Given the description of an element on the screen output the (x, y) to click on. 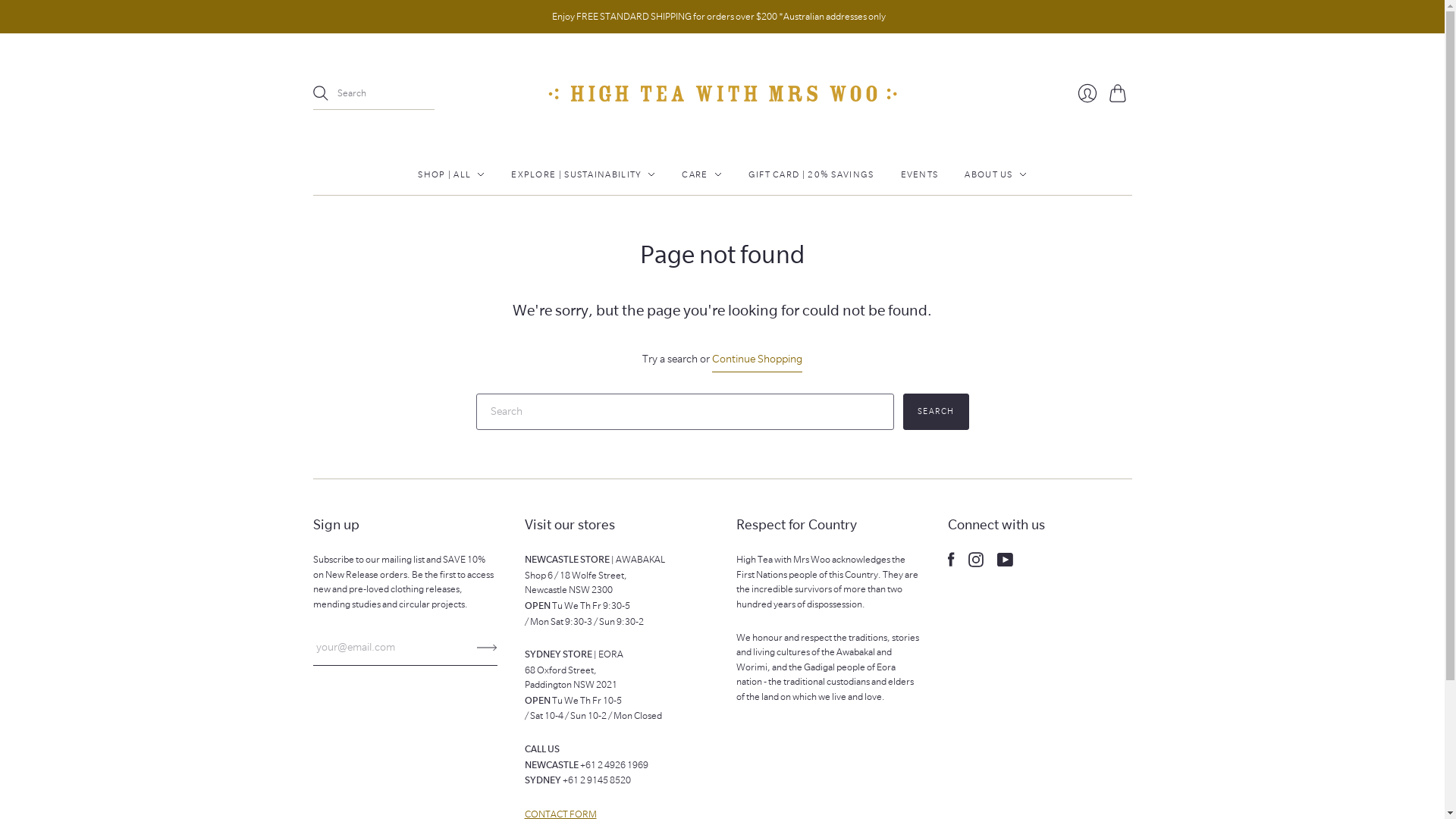
GIFT CARD | 20% SAVINGS Element type: text (811, 174)
Search Element type: text (935, 411)
SHOP | ALL Element type: text (450, 174)
Continue Shopping Element type: text (757, 359)
Login Element type: text (1086, 93)
Cart Element type: text (1119, 93)
ABOUT US Element type: text (995, 174)
CARE Element type: text (701, 174)
EVENTS Element type: text (919, 174)
EXPLORE | SUSTAINABILITY Element type: text (583, 174)
